Given the description of an element on the screen output the (x, y) to click on. 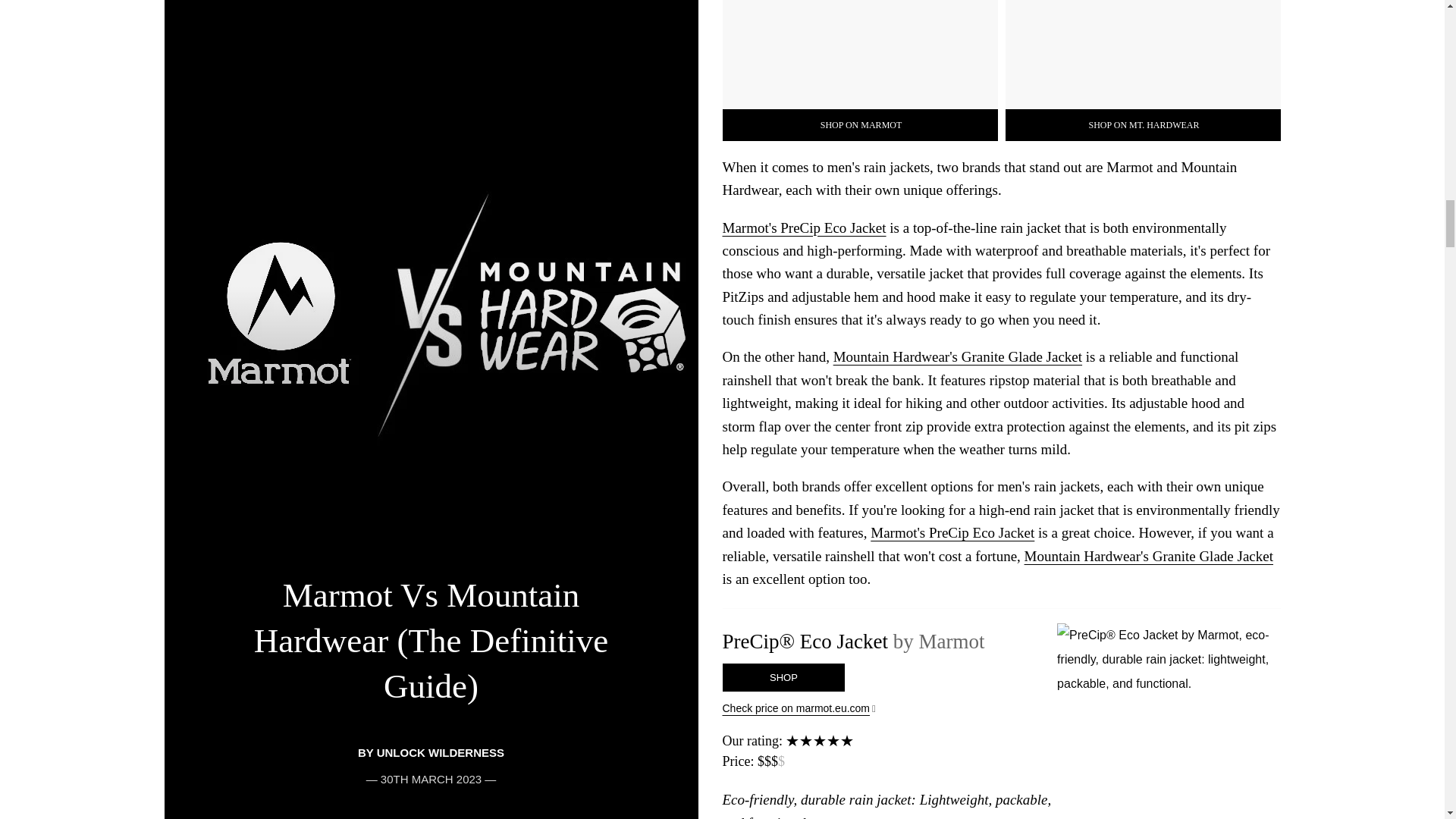
SHOP (783, 677)
Mountain Hardwear's Granite Glade Jacket (1148, 555)
Marmot's PreCip Eco Jacket (803, 227)
Check price on marmot.eu.com (1000, 708)
Marmot's PreCip Eco Jacket (951, 532)
Mountain Hardwear's Granite Glade Jacket (956, 356)
